Given the description of an element on the screen output the (x, y) to click on. 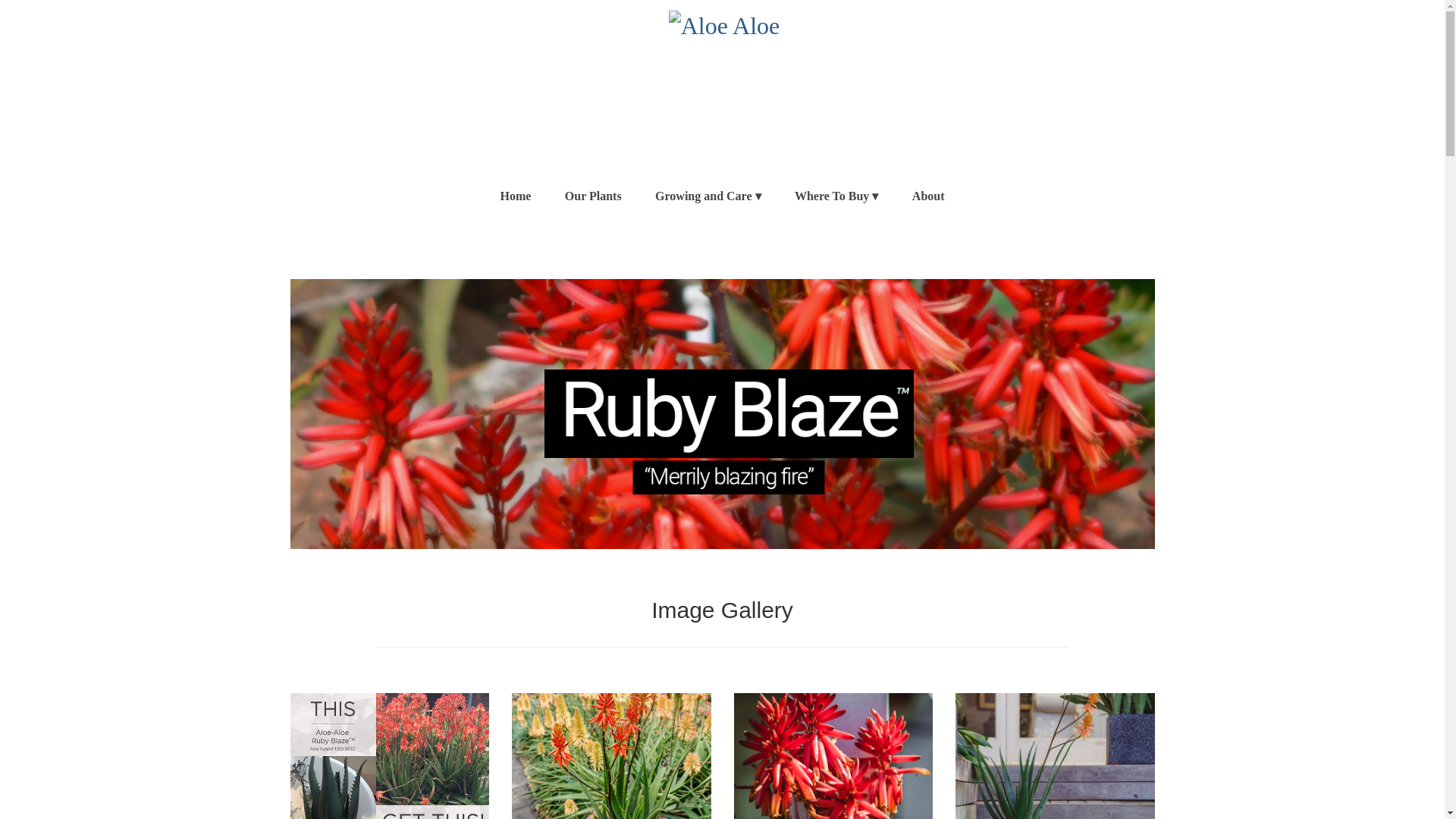
Home (515, 195)
About (927, 195)
Our Plants (593, 195)
